Given the description of an element on the screen output the (x, y) to click on. 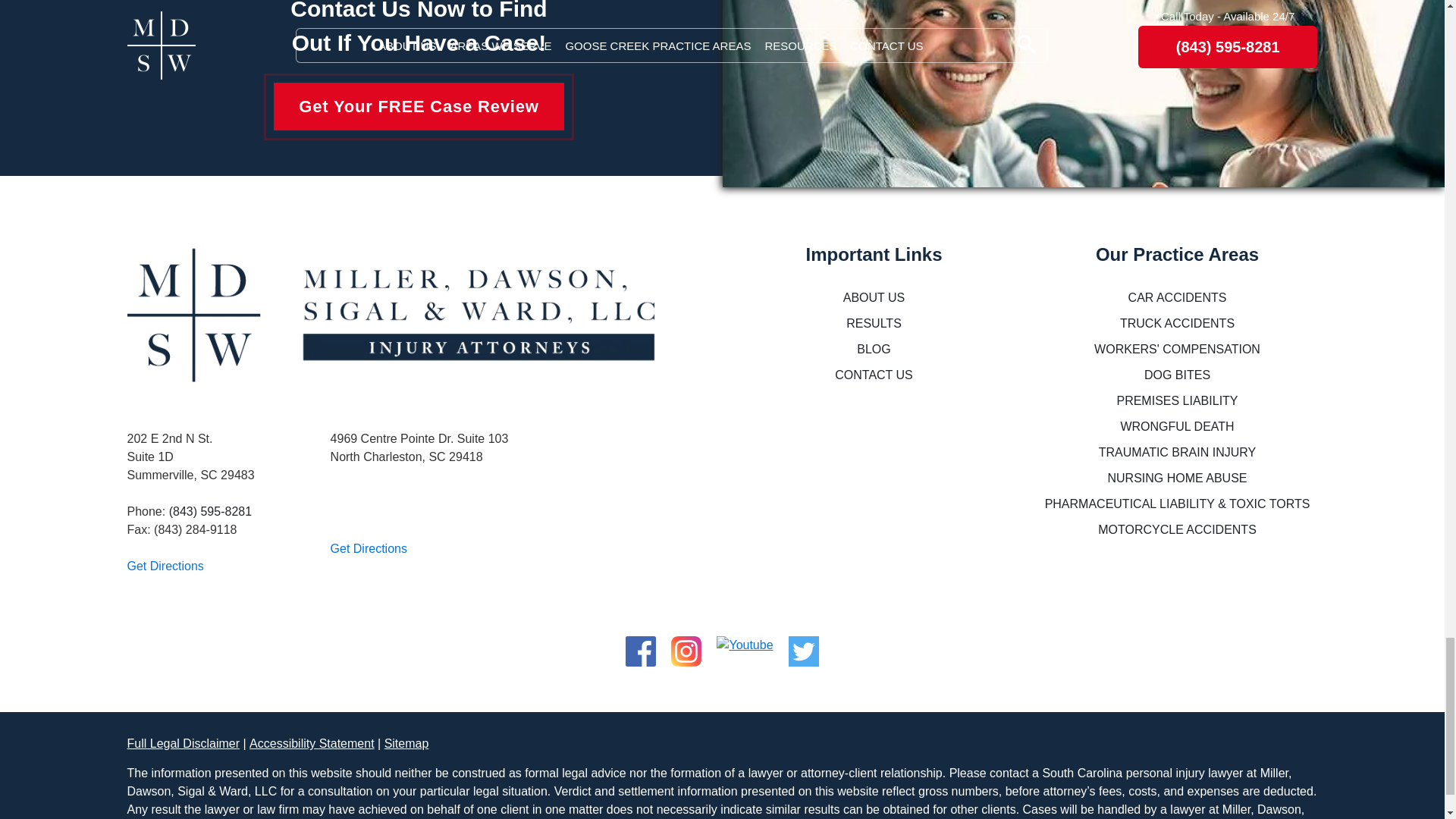
Youtube (744, 644)
Instagram (686, 644)
Twitter (803, 644)
Facebook (641, 644)
phone (209, 511)
